Given the description of an element on the screen output the (x, y) to click on. 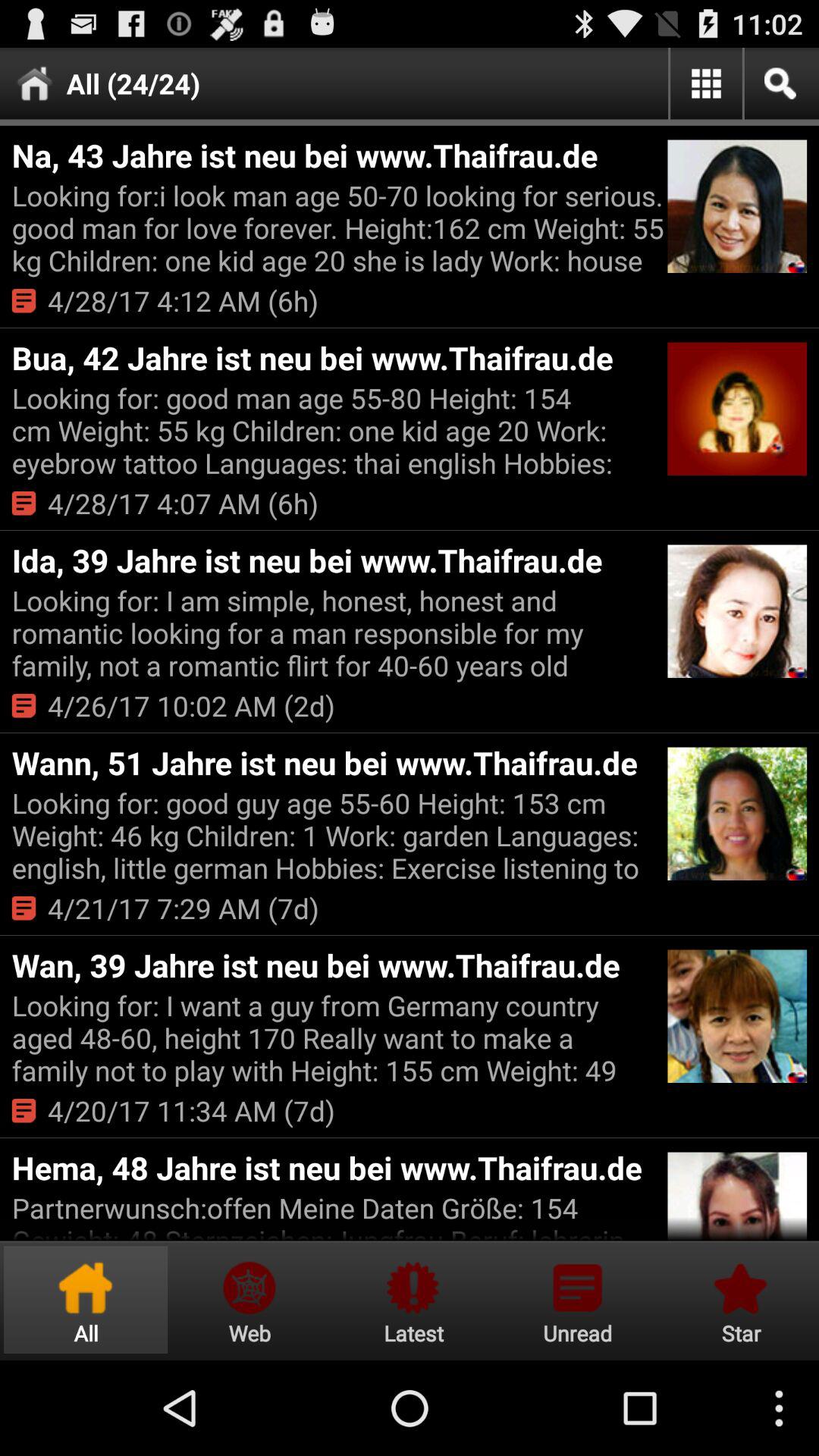
visit the notifications (577, 1299)
